Given the description of an element on the screen output the (x, y) to click on. 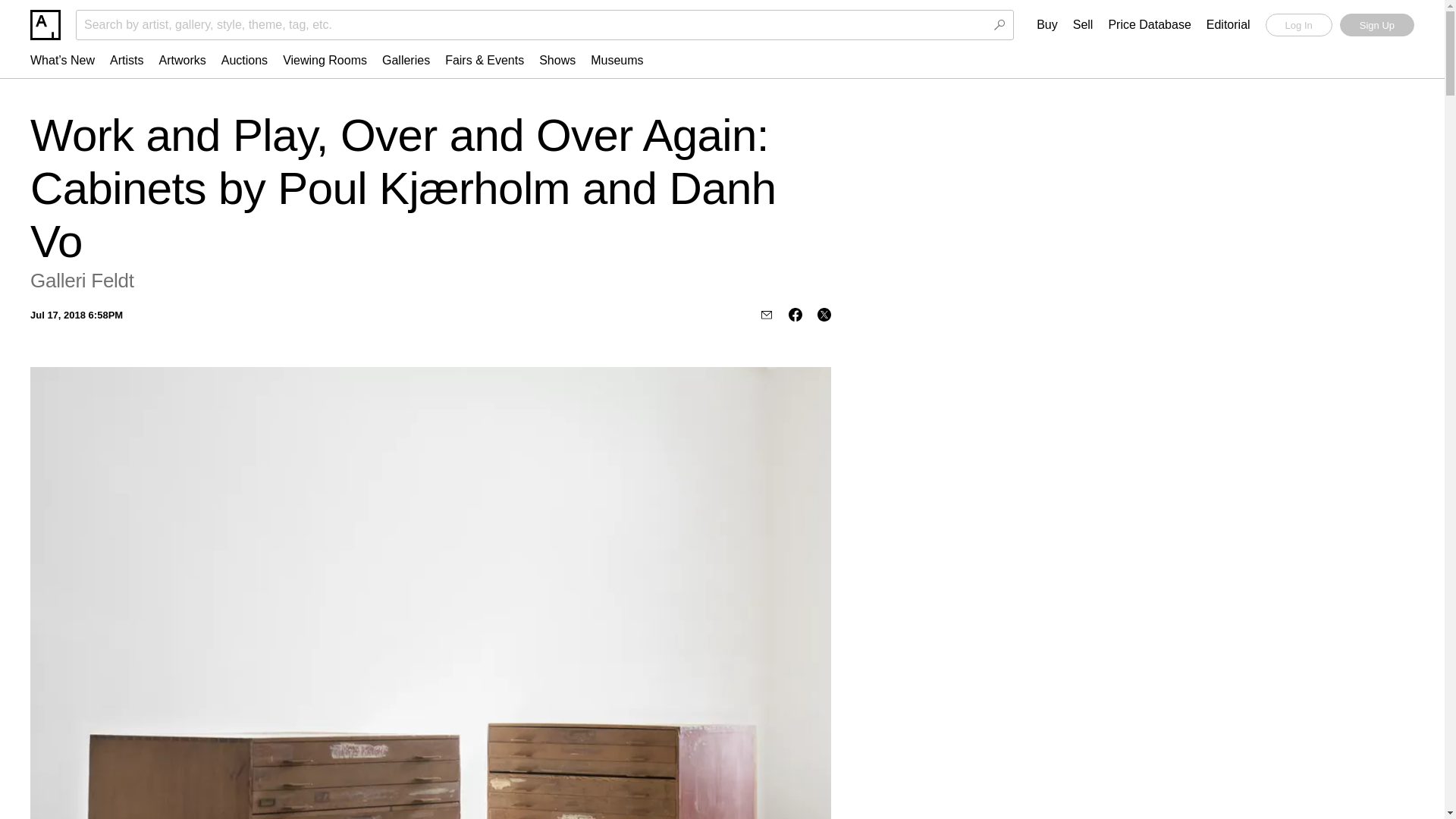
Viewing Rooms (324, 59)
Museums (616, 59)
Artists (126, 59)
Log In (1298, 24)
Share on X (823, 314)
Sign Up (1376, 24)
Shows (557, 59)
Price Database (1149, 25)
Artworks (182, 59)
Share via email (766, 314)
Editorial (1227, 25)
Sell (1082, 25)
Buy (1047, 25)
Auctions (244, 59)
Galleries (406, 59)
